Given the description of an element on the screen output the (x, y) to click on. 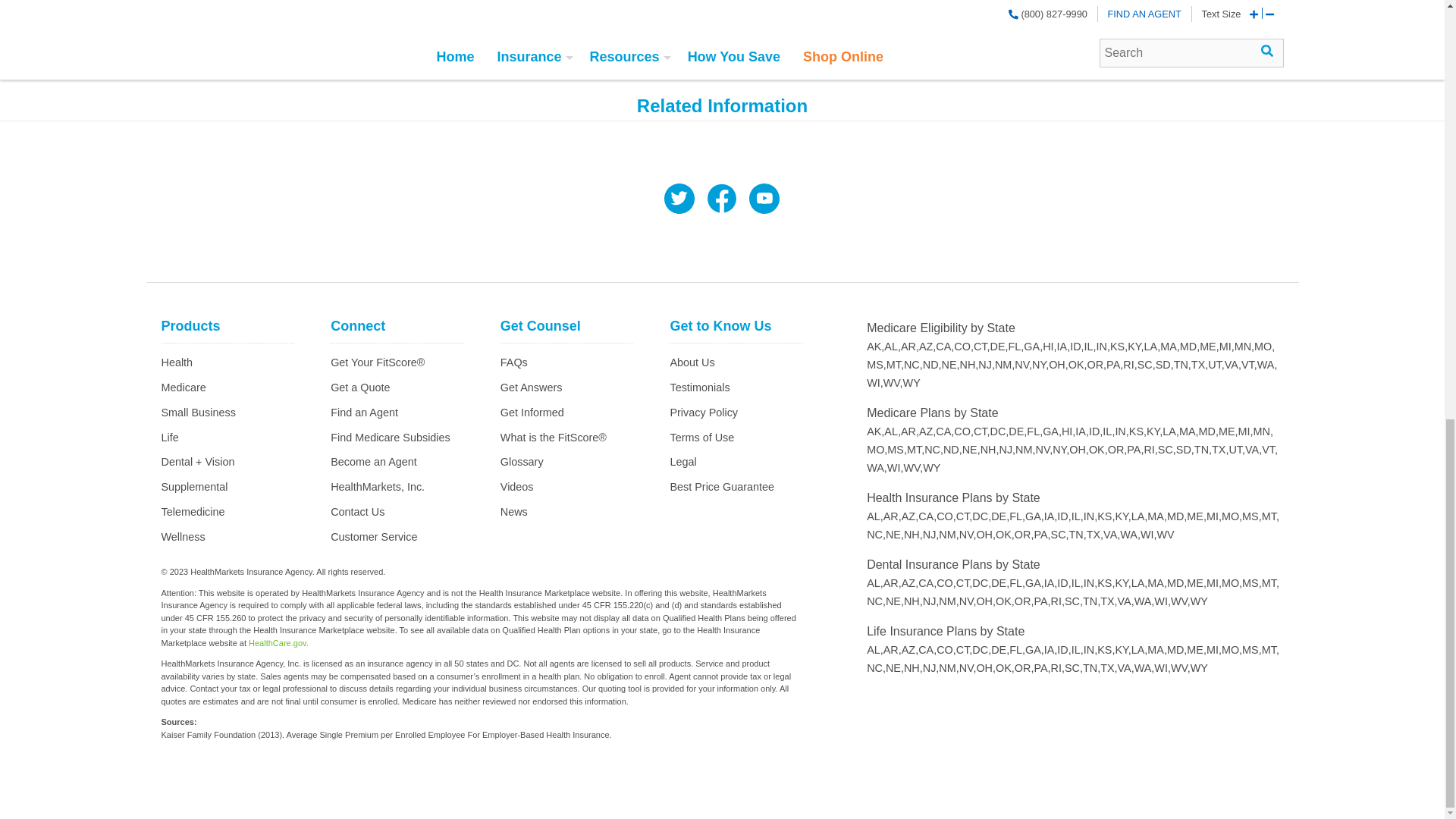
YouTube (764, 200)
Medicare Eligibility in Colorado (963, 346)
Medicare Eligibility in Georgia (1032, 346)
Medicare Eligibility in Hawaii (1049, 346)
Medicare Eligibility in Alaska (874, 346)
Medicare Eligibility in Idaho (1076, 346)
Twitter (679, 200)
Medicare Eligibility in Florida (1017, 346)
Medicare Eligibility in Delaware (999, 346)
Medicare Eligibility in Arkansas (909, 346)
